Given the description of an element on the screen output the (x, y) to click on. 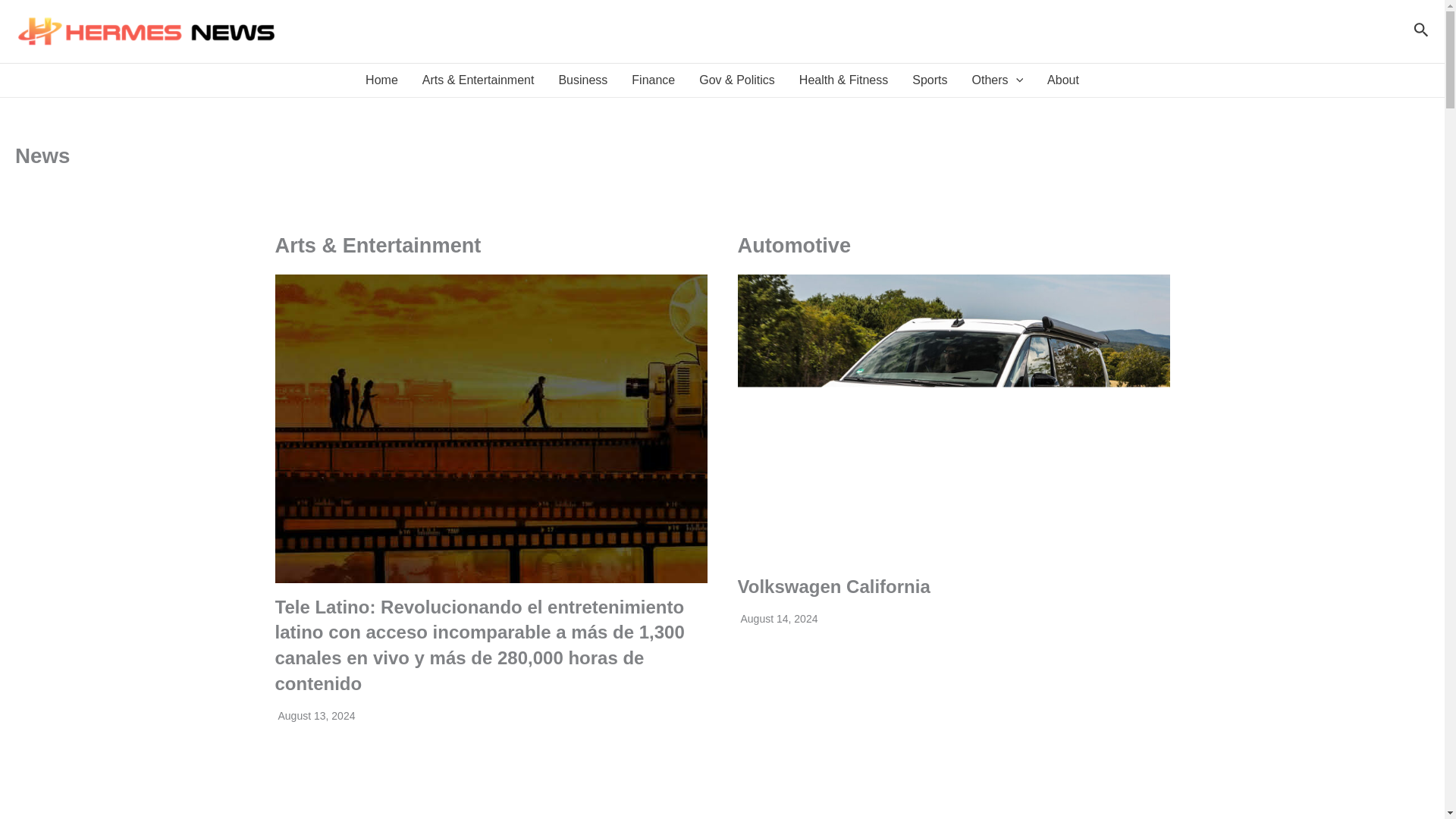
Business (583, 80)
Finance (653, 80)
About (1062, 80)
Sports (929, 80)
Others (997, 80)
Home (381, 80)
